Given the description of an element on the screen output the (x, y) to click on. 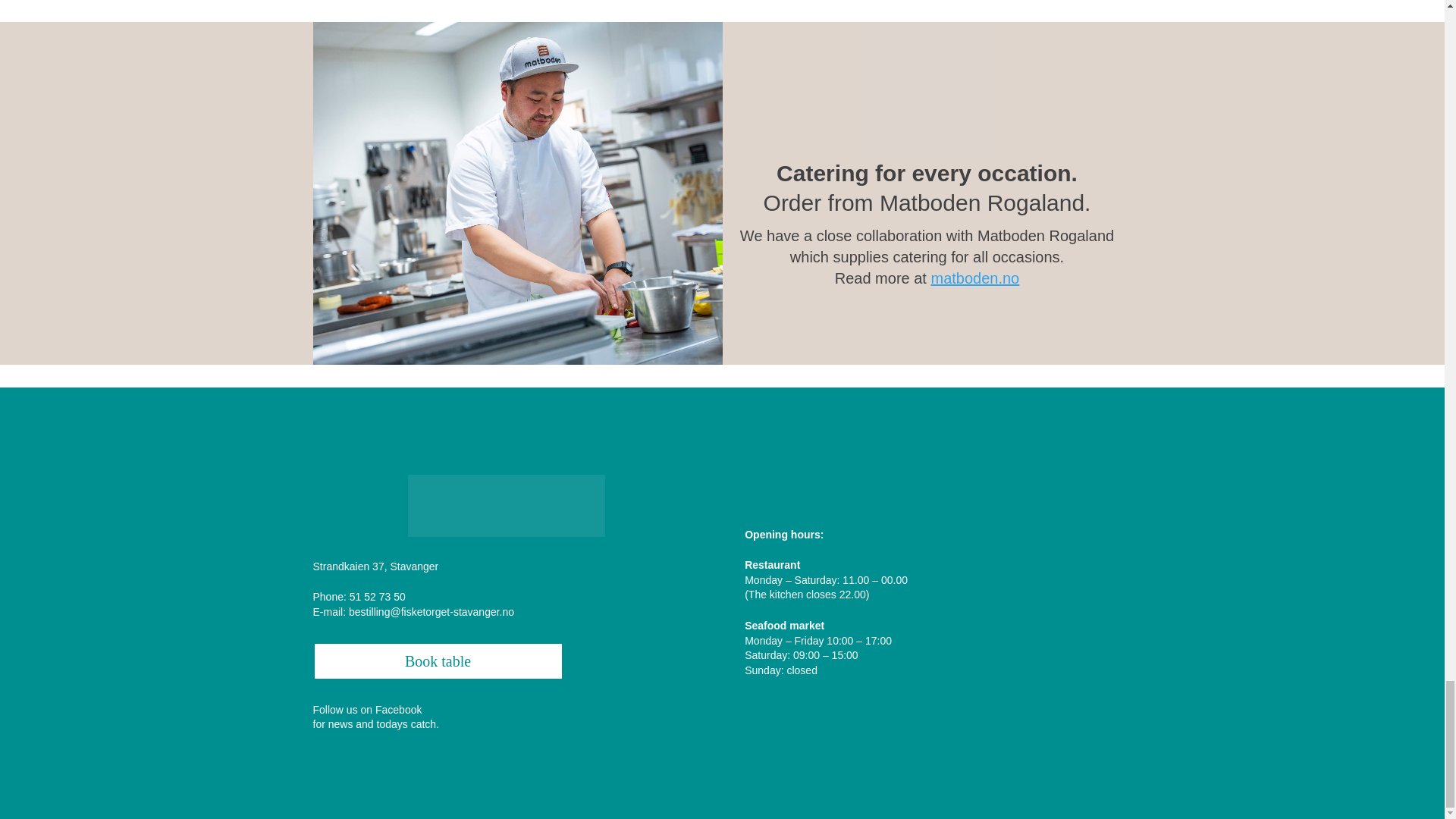
matboden.no (974, 278)
Book table (437, 661)
Fisketorget Stavanger logo (506, 506)
